Given the description of an element on the screen output the (x, y) to click on. 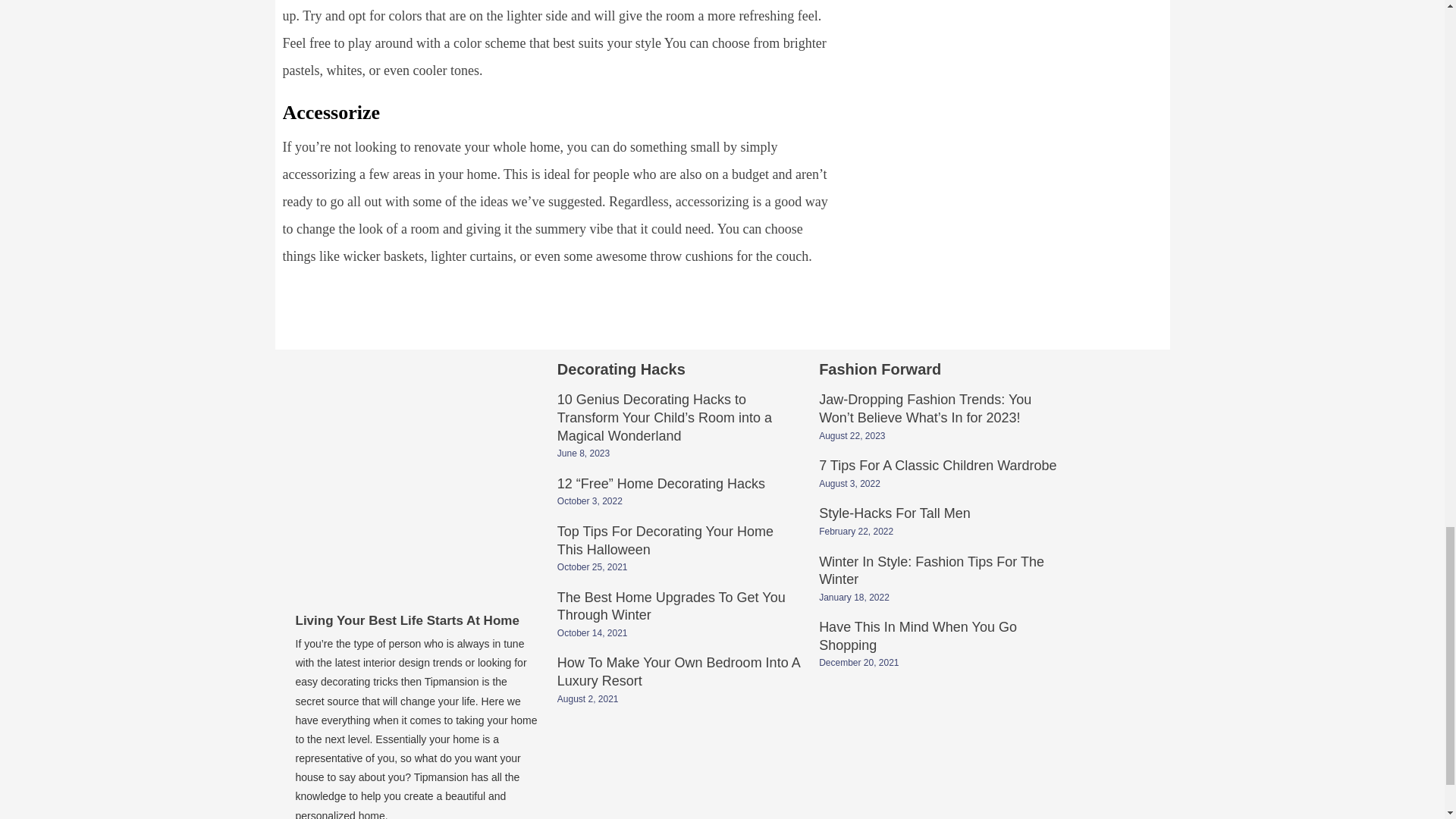
7 Tips For A Classic Children Wardrobe (937, 466)
Top Tips For Decorating Your Home This Halloween (665, 541)
Style-Hacks For Tall Men (894, 514)
The Best Home Upgrades To Get You Through Winter (671, 607)
Have This In Mind When You Go Shopping (917, 637)
How To Make Your Own Bedroom Into A Luxury Resort (678, 673)
Winter In Style: Fashion Tips For The Winter (930, 572)
